Given the description of an element on the screen output the (x, y) to click on. 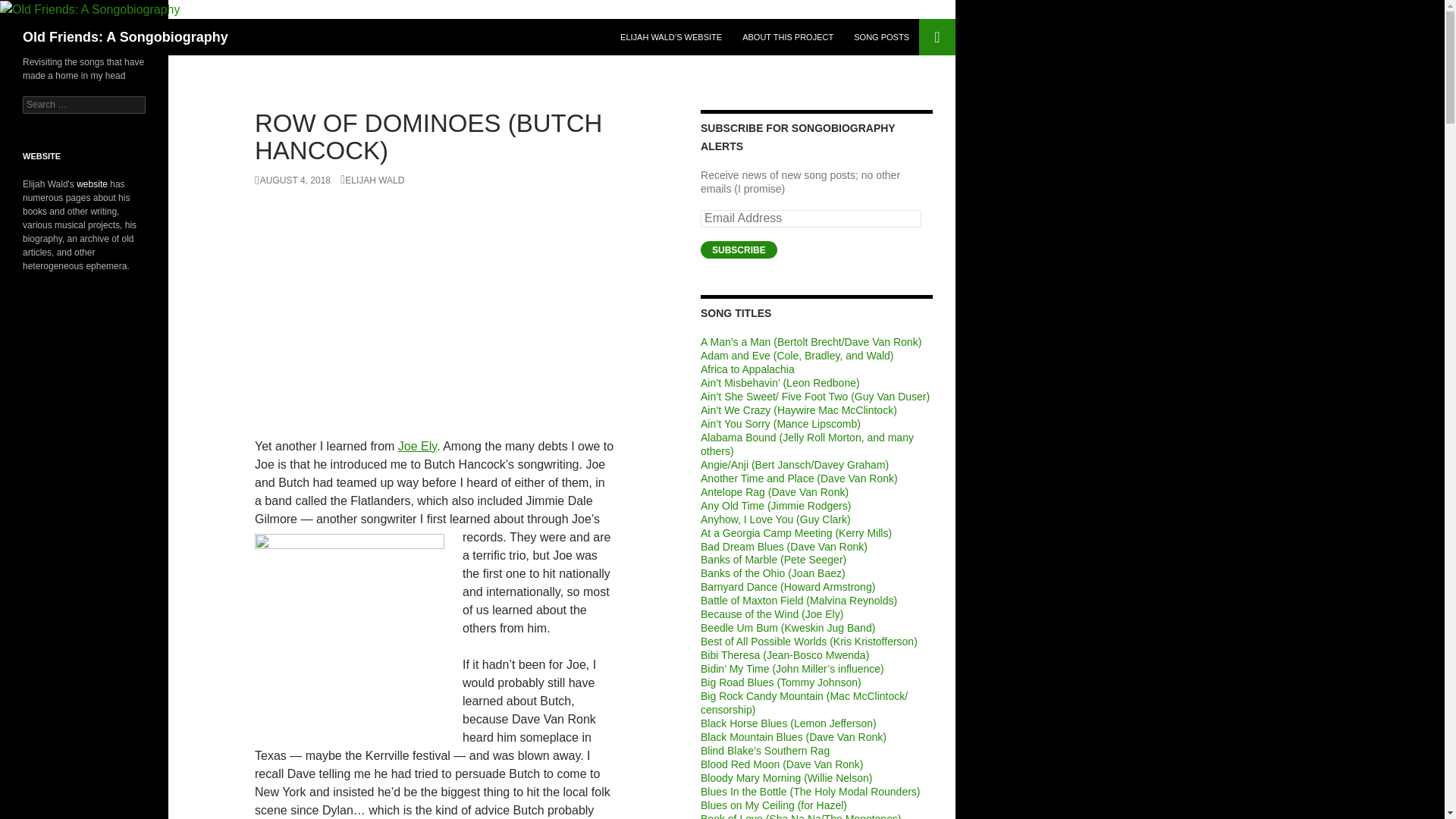
Old Friends: A Songobiography (125, 36)
Joe Ely (416, 445)
ELIJAH WALD (372, 180)
ABOUT THIS PROJECT (788, 36)
AUGUST 4, 2018 (292, 180)
SUBSCRIBE (738, 249)
SONG POSTS (881, 36)
Africa to Appalachia (747, 369)
